Given the description of an element on the screen output the (x, y) to click on. 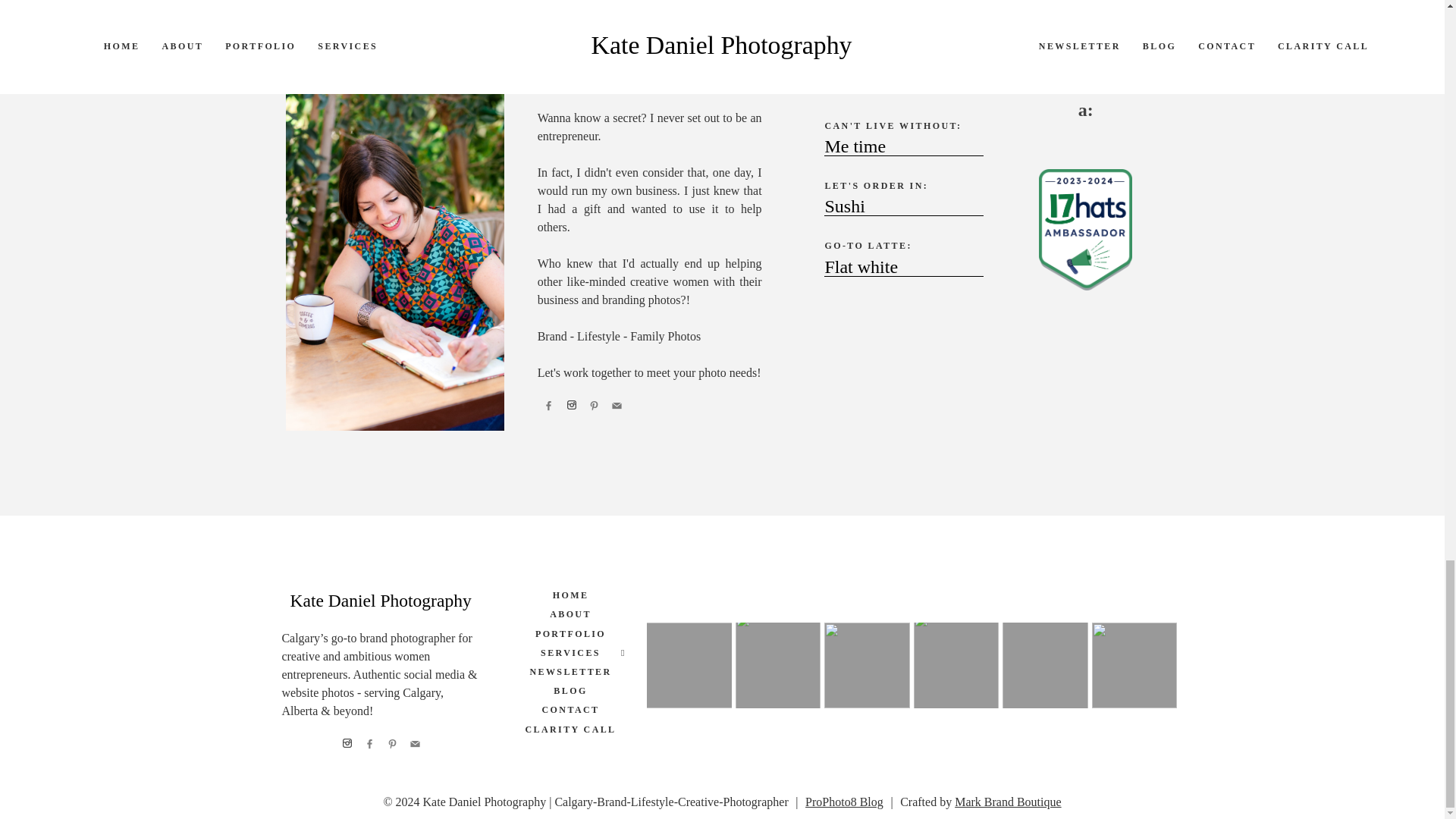
ProPhoto Website (844, 801)
